Given the description of an element on the screen output the (x, y) to click on. 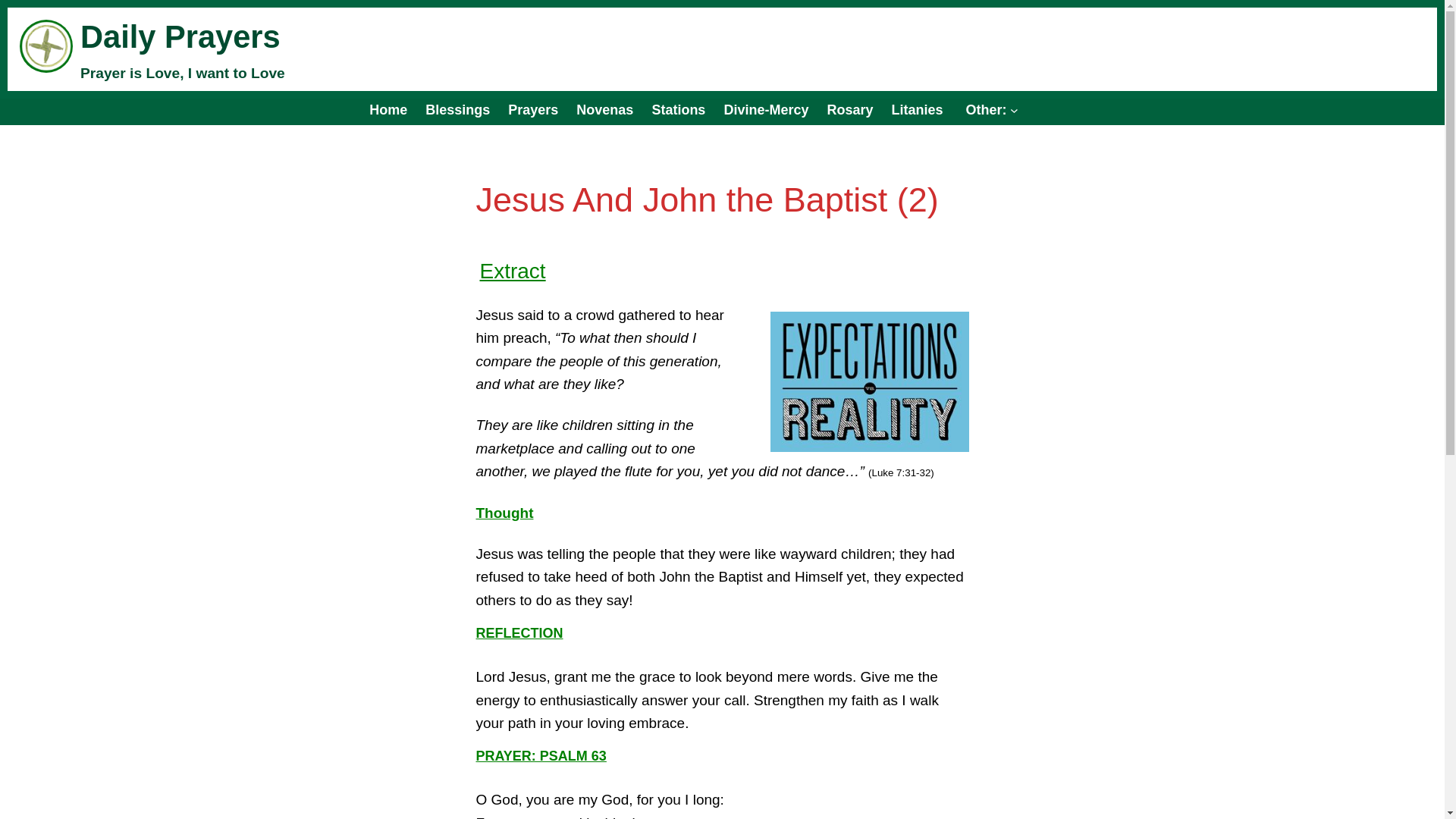
Prayers (532, 110)
Blessings (457, 110)
Home (388, 110)
Novenas (604, 110)
Children (532, 110)
Litanies (916, 110)
Stations (677, 110)
Rosary (849, 110)
Divine-Mercy (765, 110)
Other: (988, 110)
